Given the description of an element on the screen output the (x, y) to click on. 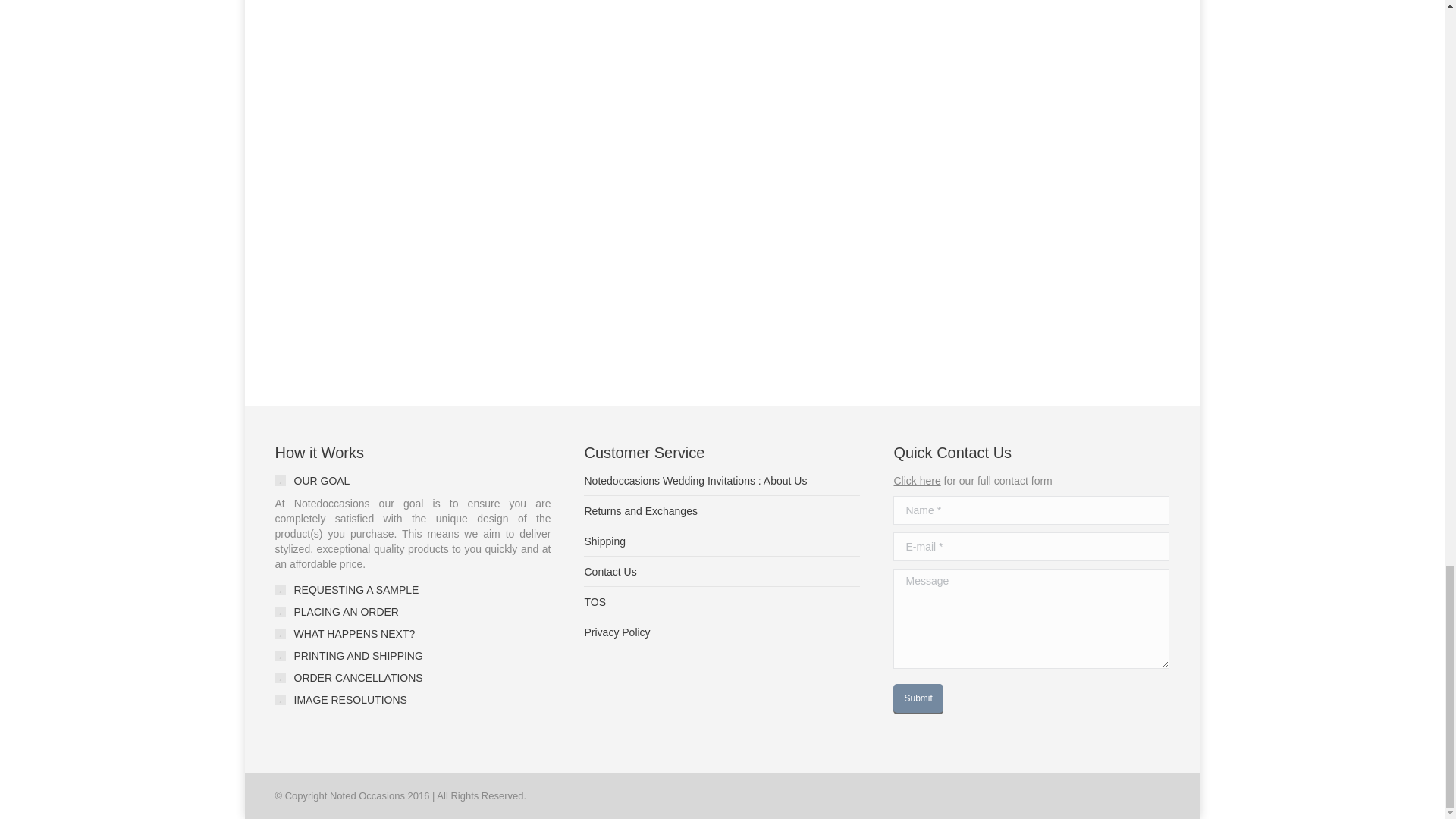
submit (967, 699)
